Given the description of an element on the screen output the (x, y) to click on. 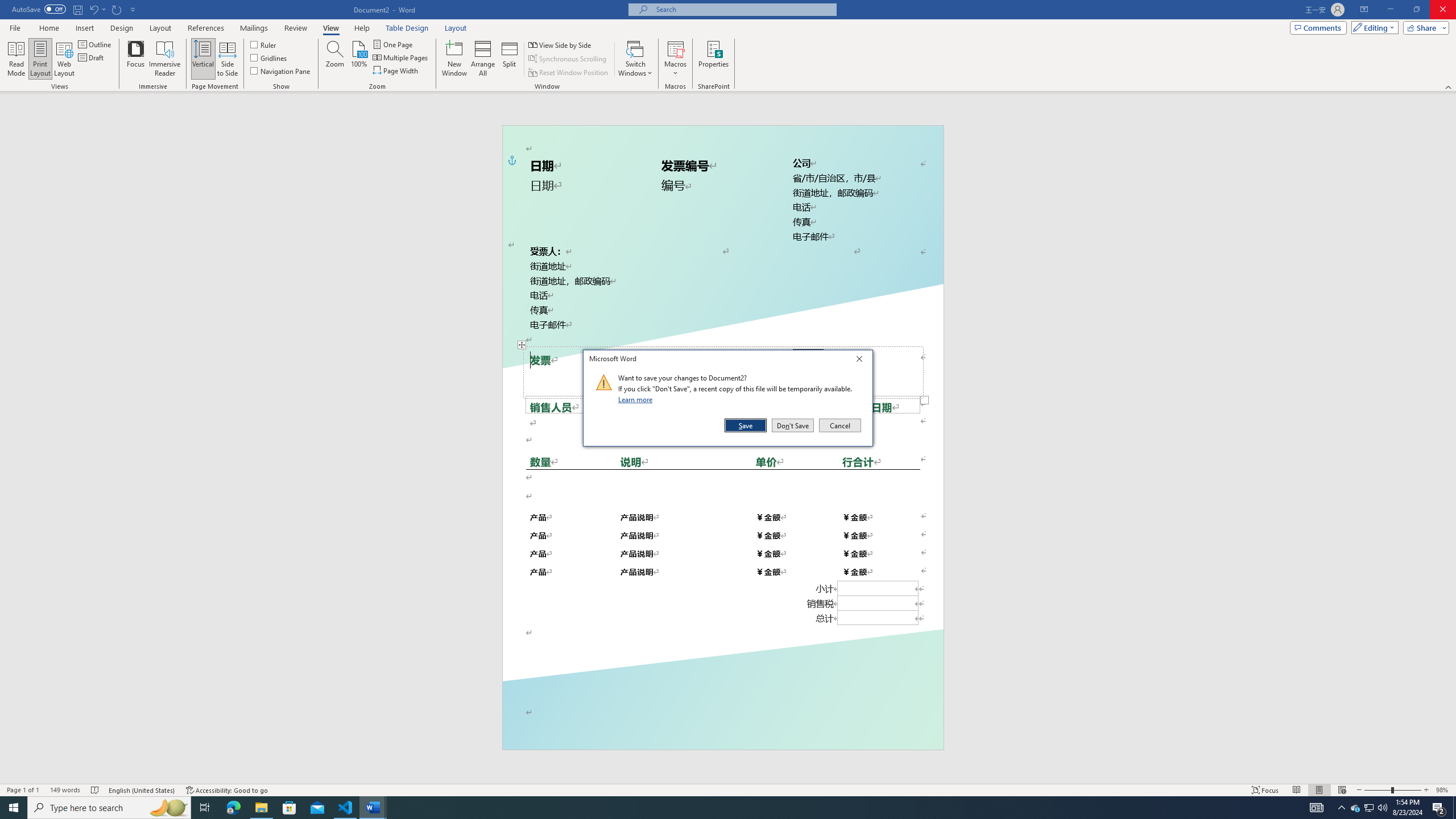
Synchronous Scrolling (568, 58)
Macros (675, 58)
100% (358, 58)
Running applications (717, 807)
Repeat Style (117, 9)
